Given the description of an element on the screen output the (x, y) to click on. 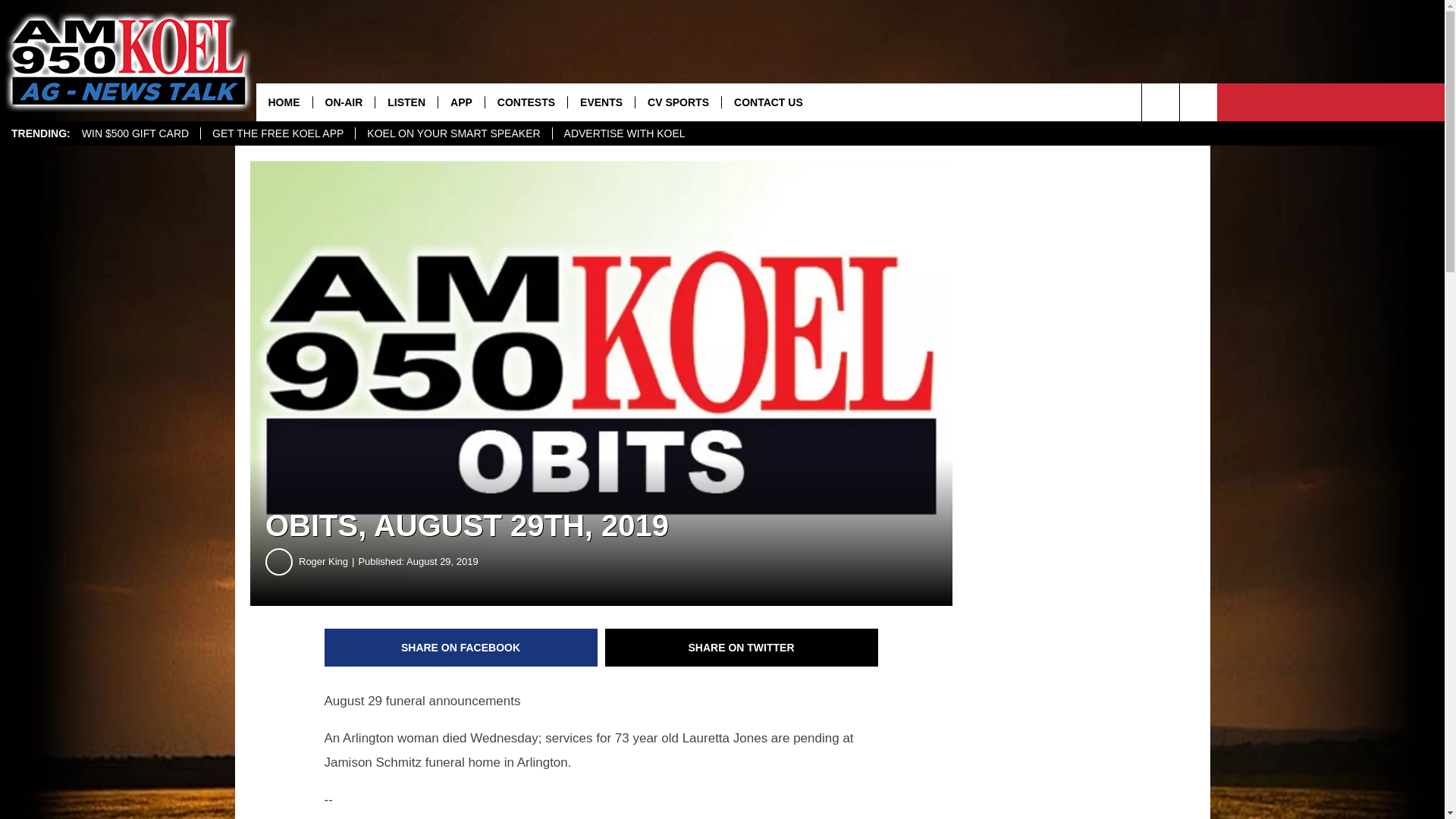
CONTESTS (525, 102)
CONTACT US (767, 102)
KOEL ON YOUR SMART SPEAKER (453, 133)
HOME (284, 102)
CV SPORTS (677, 102)
APP (461, 102)
LISTEN (406, 102)
GET THE FREE KOEL APP (277, 133)
ADVERTISE WITH KOEL (624, 133)
ON-AIR (344, 102)
Share on Twitter (741, 647)
EVENTS (600, 102)
Share on Facebook (460, 647)
